Given the description of an element on the screen output the (x, y) to click on. 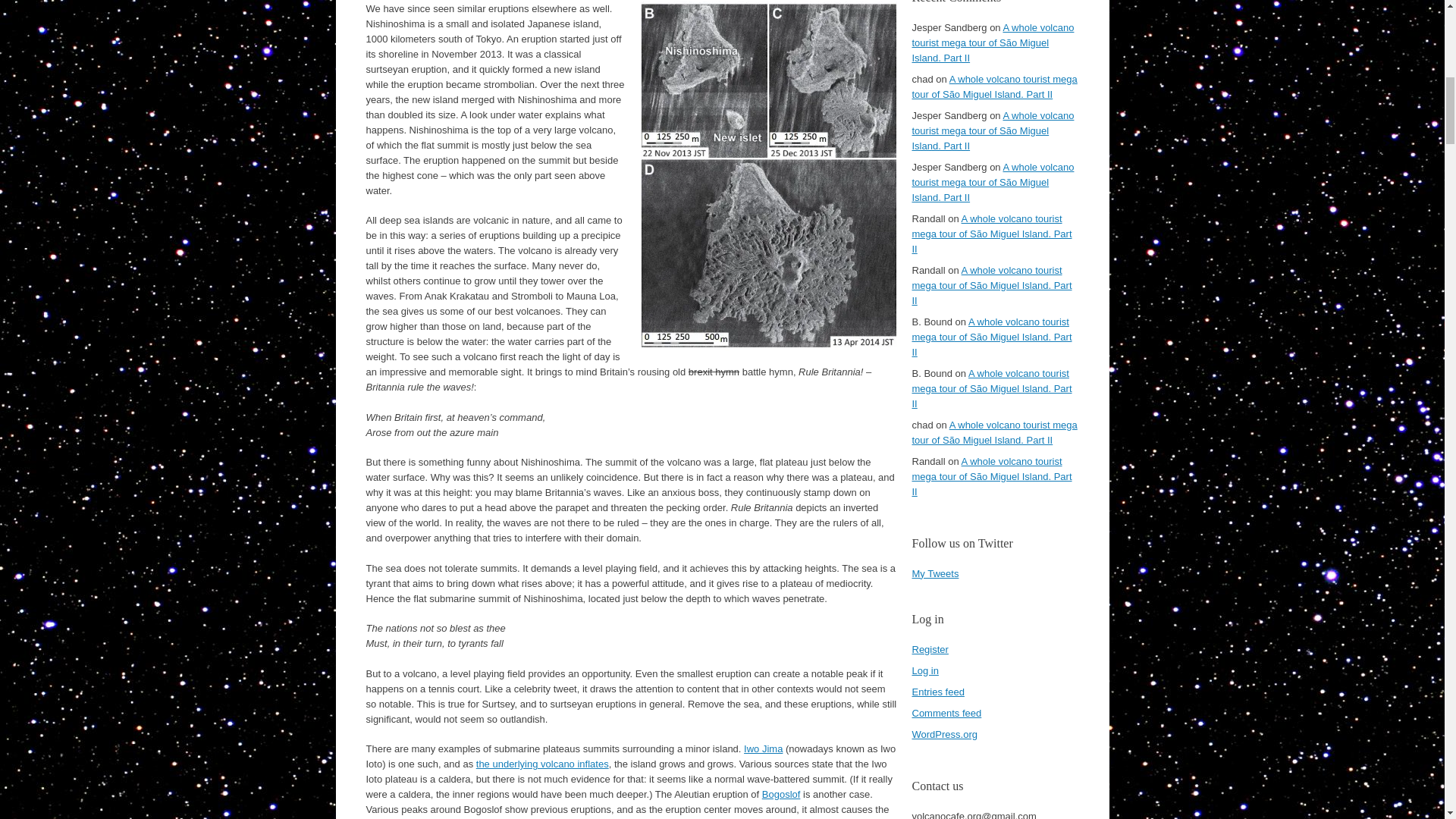
Iwo Jima (763, 748)
